Given the description of an element on the screen output the (x, y) to click on. 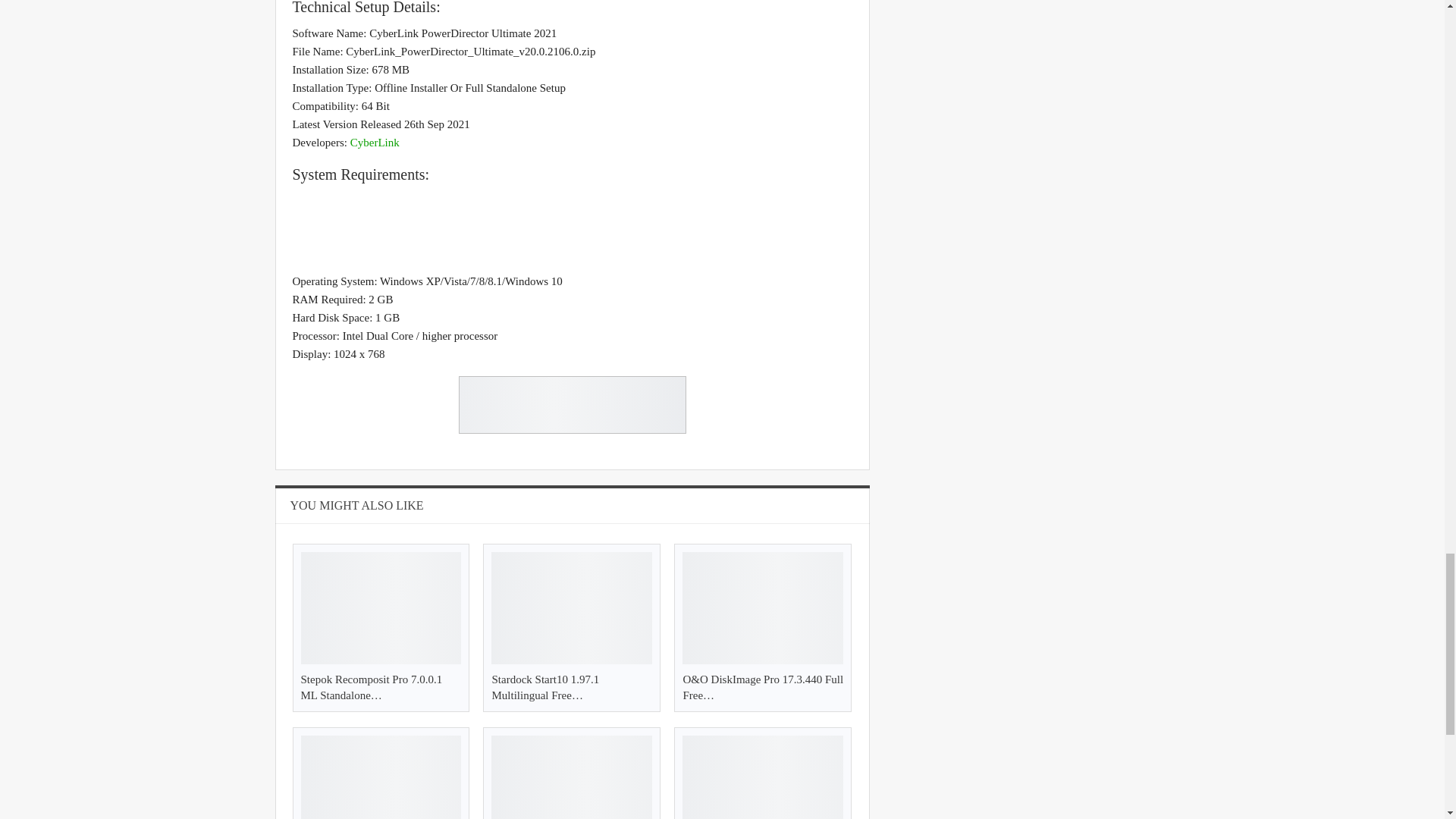
Stardock Start10 1.97.1 Multilingual Free Download (545, 687)
Stardock Start10 1.97.1 Multilingual Free Download (572, 608)
CyberLink (374, 142)
